Given the description of an element on the screen output the (x, y) to click on. 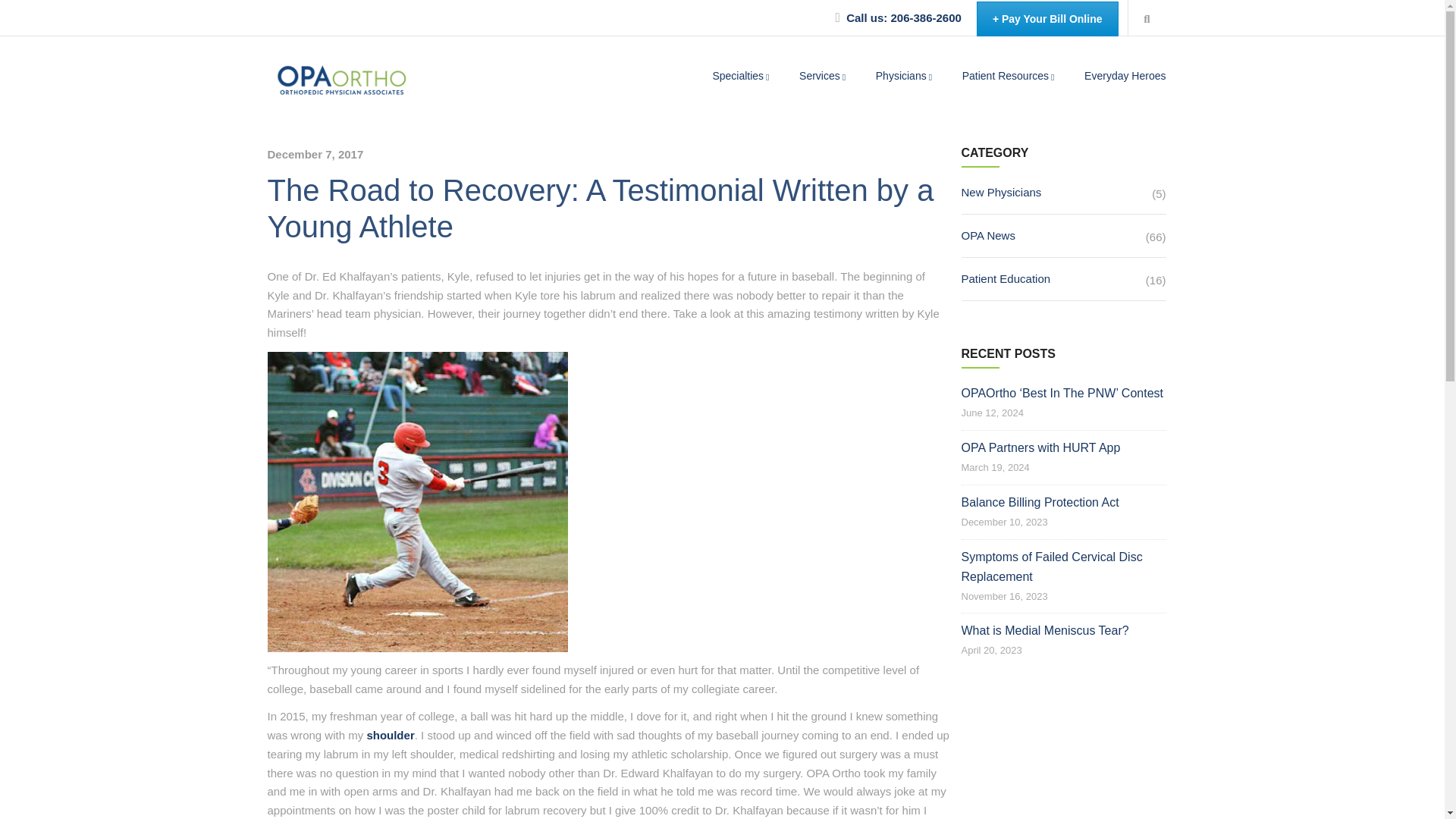
Call us: 206-386-2600 (902, 16)
Specialties (742, 75)
